Given the description of an element on the screen output the (x, y) to click on. 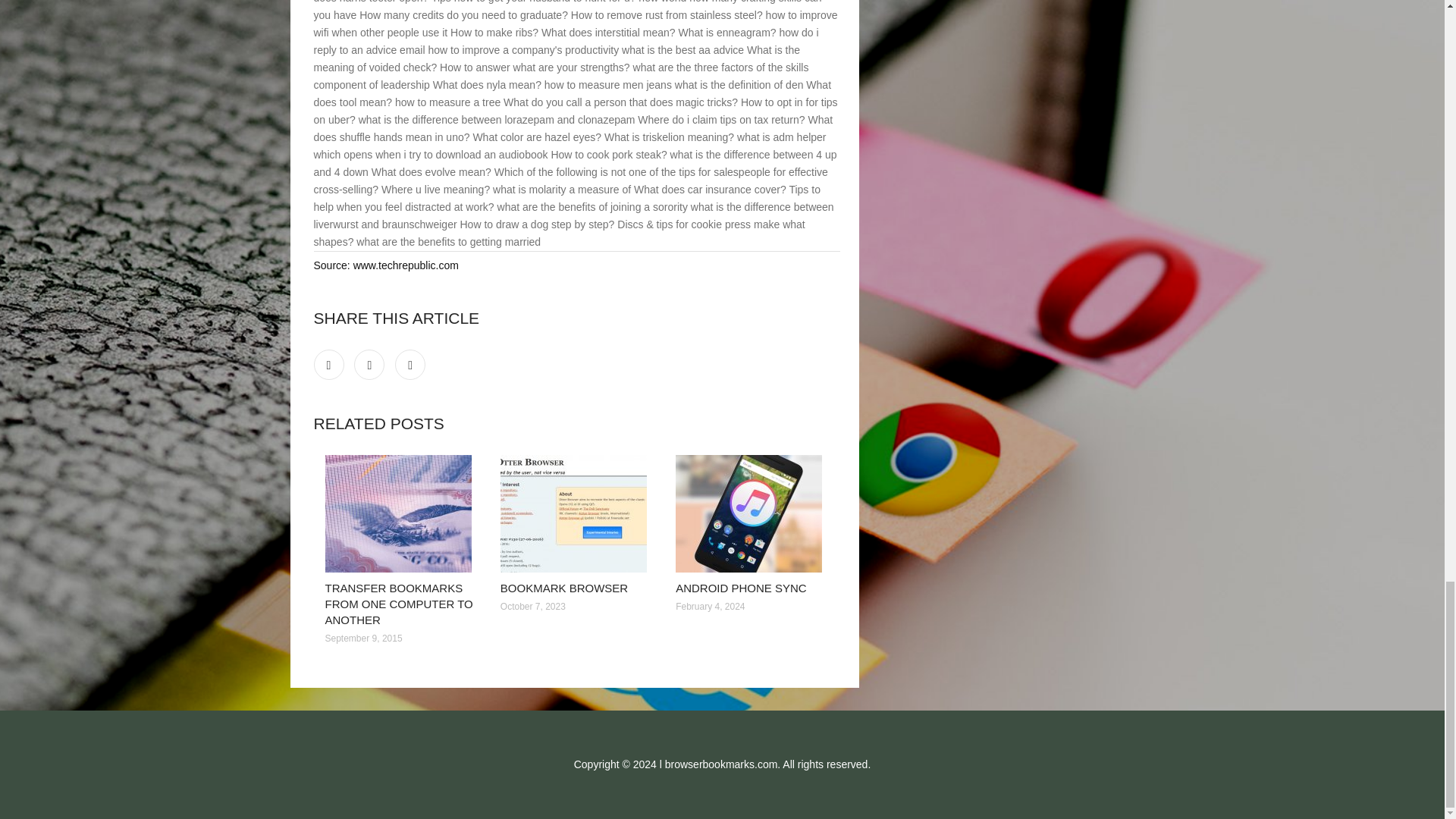
What is enneagram? (727, 32)
how to improve a company's productivity (523, 50)
What is the meaning of voided check? (557, 58)
Android phone Sync (751, 513)
what is the best aa advice (682, 50)
How to make ribs? (493, 32)
how to improve wifi when other people use it (576, 23)
Transfer bookmarks from one computer to another (400, 513)
how do i reply to an advice email (566, 41)
What does interstitial mean? (608, 32)
How to remove rust from stainless steel? (666, 15)
Bookmark browser (576, 513)
new world how many crafting skills can you have (568, 10)
Tips how to get your husband to hunt for u? (533, 2)
